Given the description of an element on the screen output the (x, y) to click on. 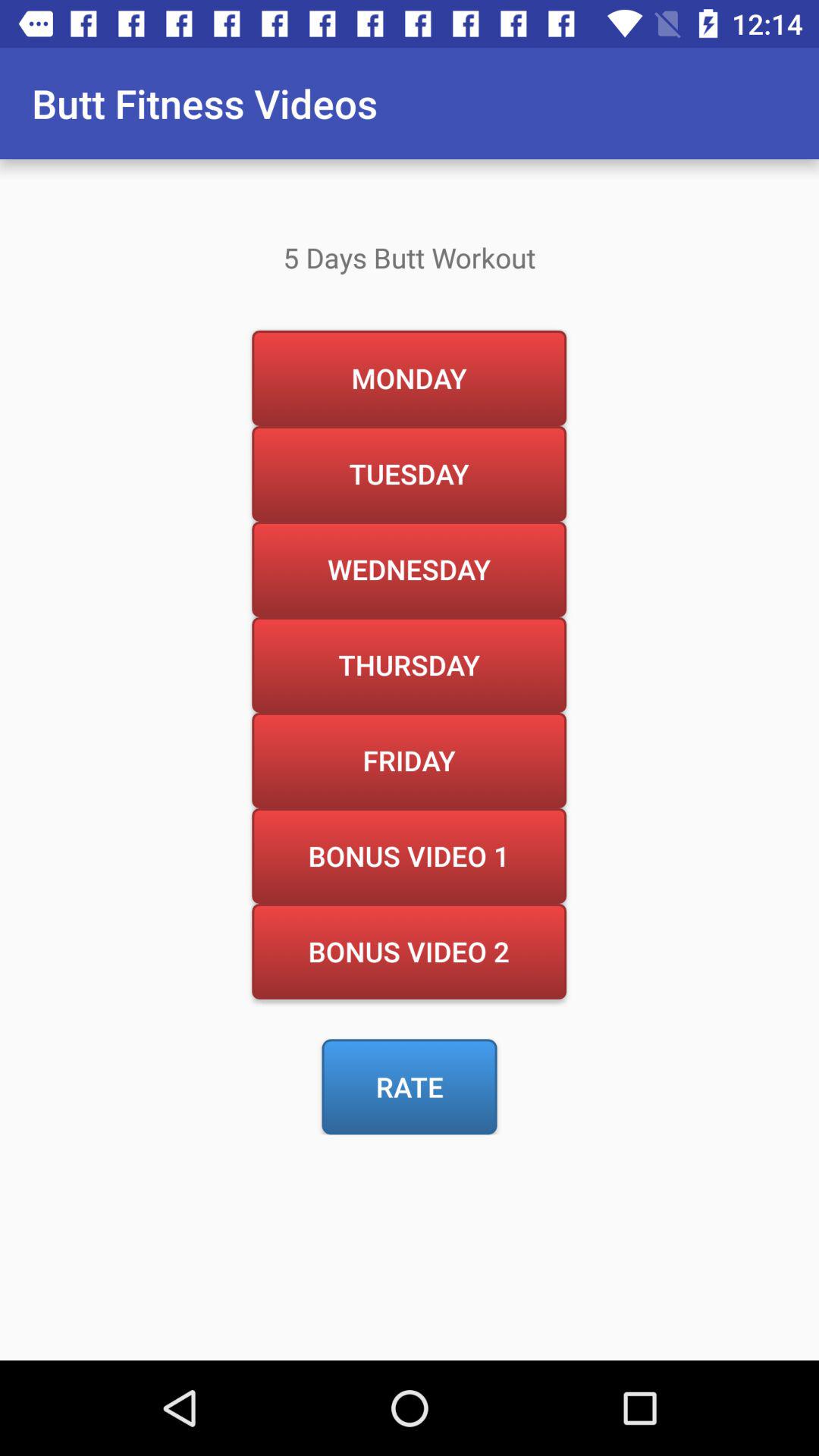
tap icon below the tuesday (408, 569)
